Given the description of an element on the screen output the (x, y) to click on. 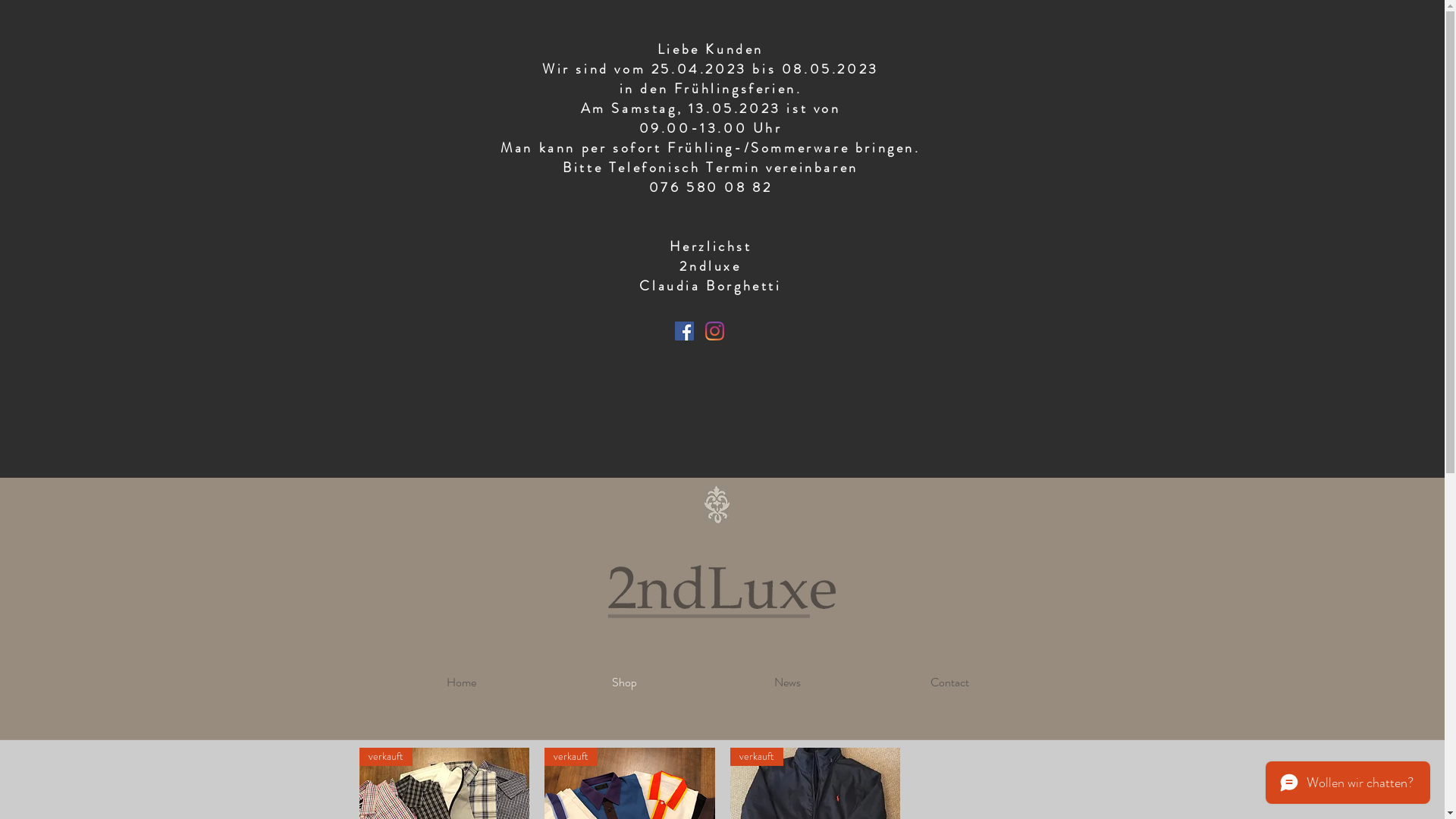
Home Element type: text (460, 681)
Shop Element type: text (624, 681)
News Element type: text (786, 681)
Contact Element type: text (950, 681)
Logo_freigestellt_edited.png Element type: hover (721, 592)
Ornament_einzeln_Hintergrund-01.jpg Element type: hover (715, 504)
